Given the description of an element on the screen output the (x, y) to click on. 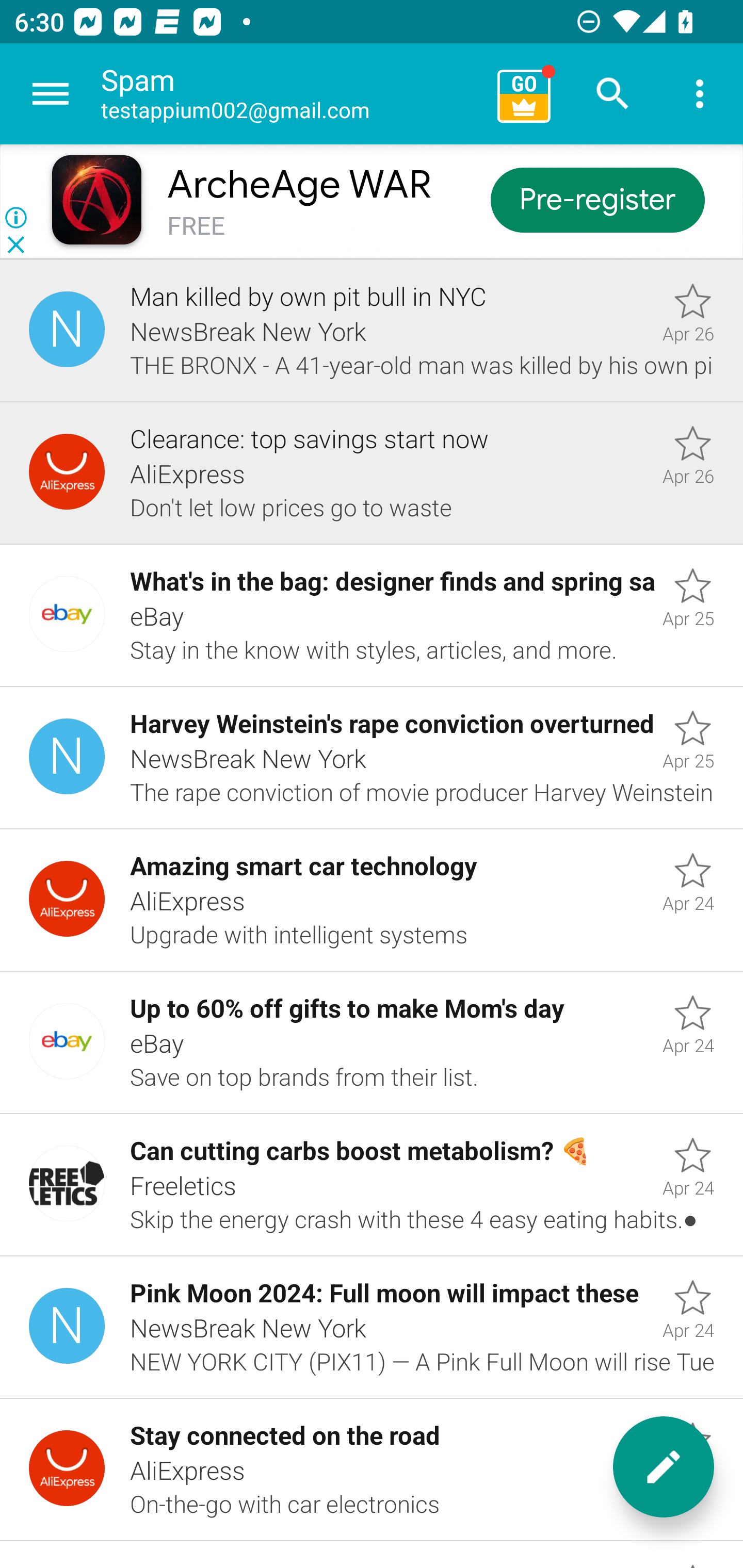
Navigate up (50, 93)
Spam testappium002@gmail.com (291, 93)
Search (612, 93)
More options (699, 93)
New message (663, 1466)
